Given the description of an element on the screen output the (x, y) to click on. 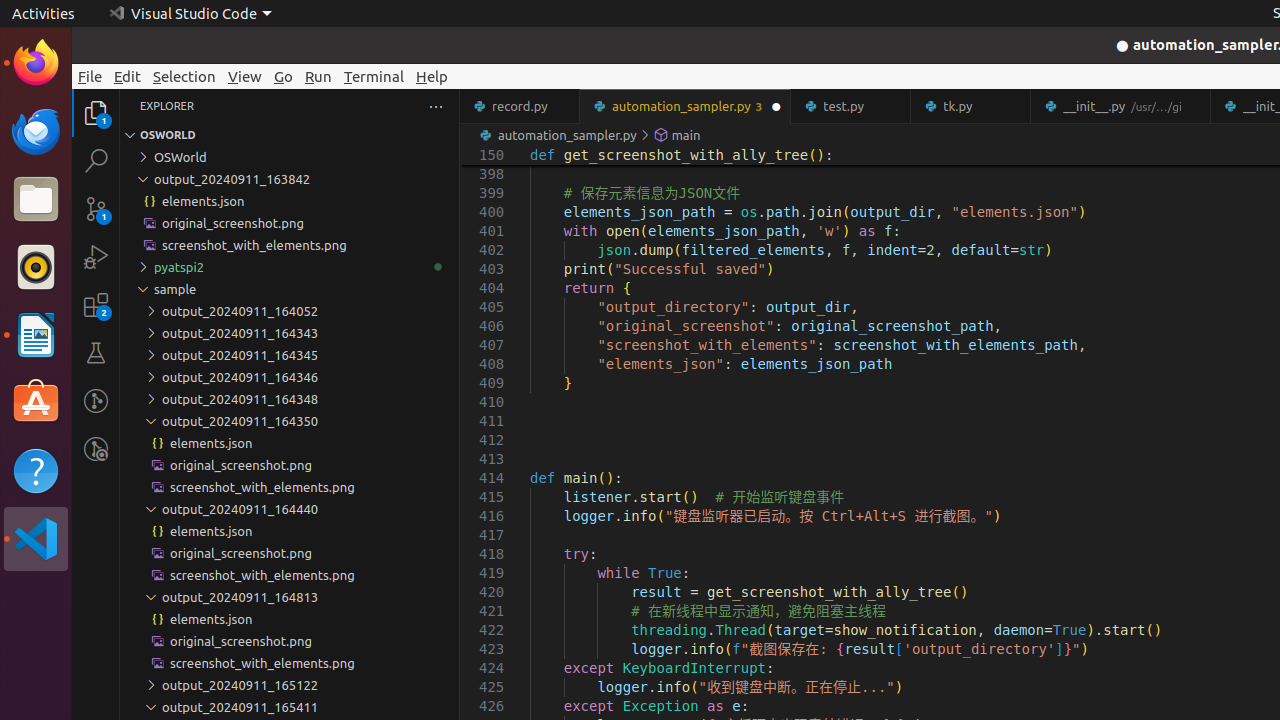
test.py Element type: page-tab (851, 106)
Go Element type: push-button (283, 76)
output_20240911_164343 Element type: tree-item (289, 333)
Search (Ctrl+Shift+F) Element type: page-tab (96, 160)
